Given the description of an element on the screen output the (x, y) to click on. 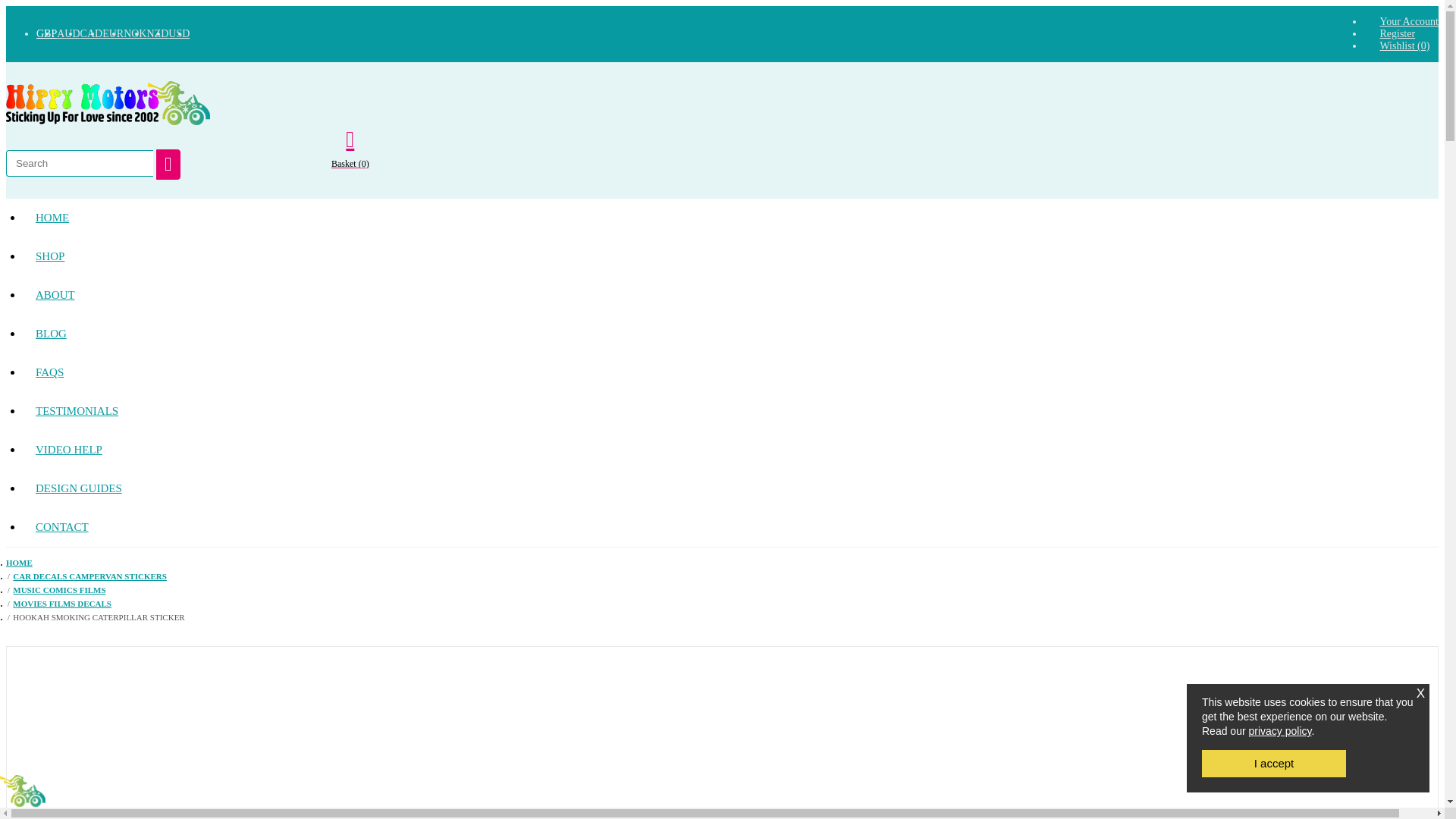
EUR (112, 33)
ABOUT (55, 295)
USD (178, 33)
TESTIMONIALS (77, 411)
CAD (91, 33)
HOME (52, 218)
NOK (135, 33)
FAQS (50, 372)
NZD (157, 33)
VIDEO HELP (69, 449)
Your Account (1408, 21)
Register (1396, 33)
SHOP (50, 256)
GBP (46, 33)
AUD (68, 33)
